Given the description of an element on the screen output the (x, y) to click on. 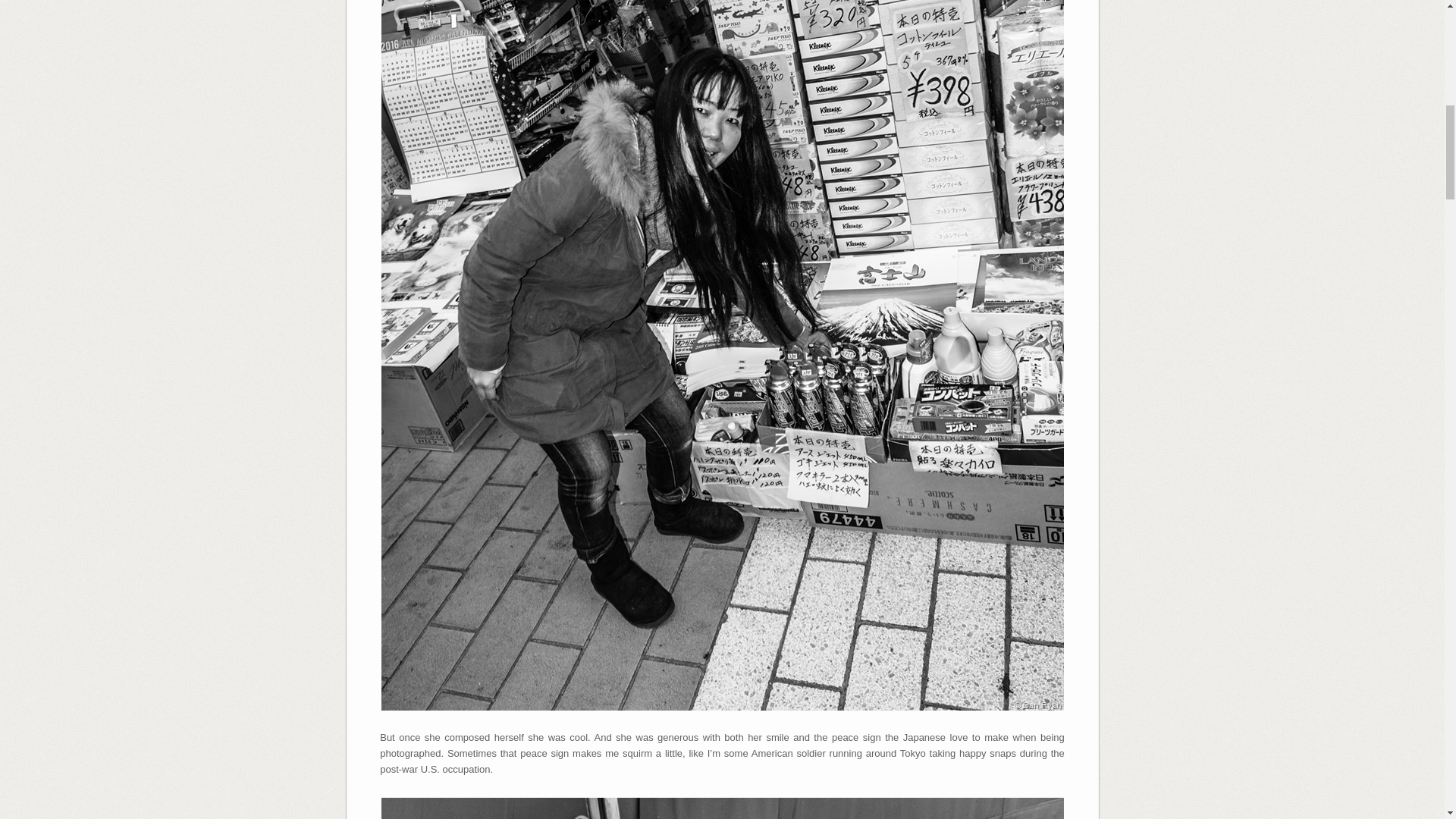
TokyoDay17 076-2 (721, 808)
